Given the description of an element on the screen output the (x, y) to click on. 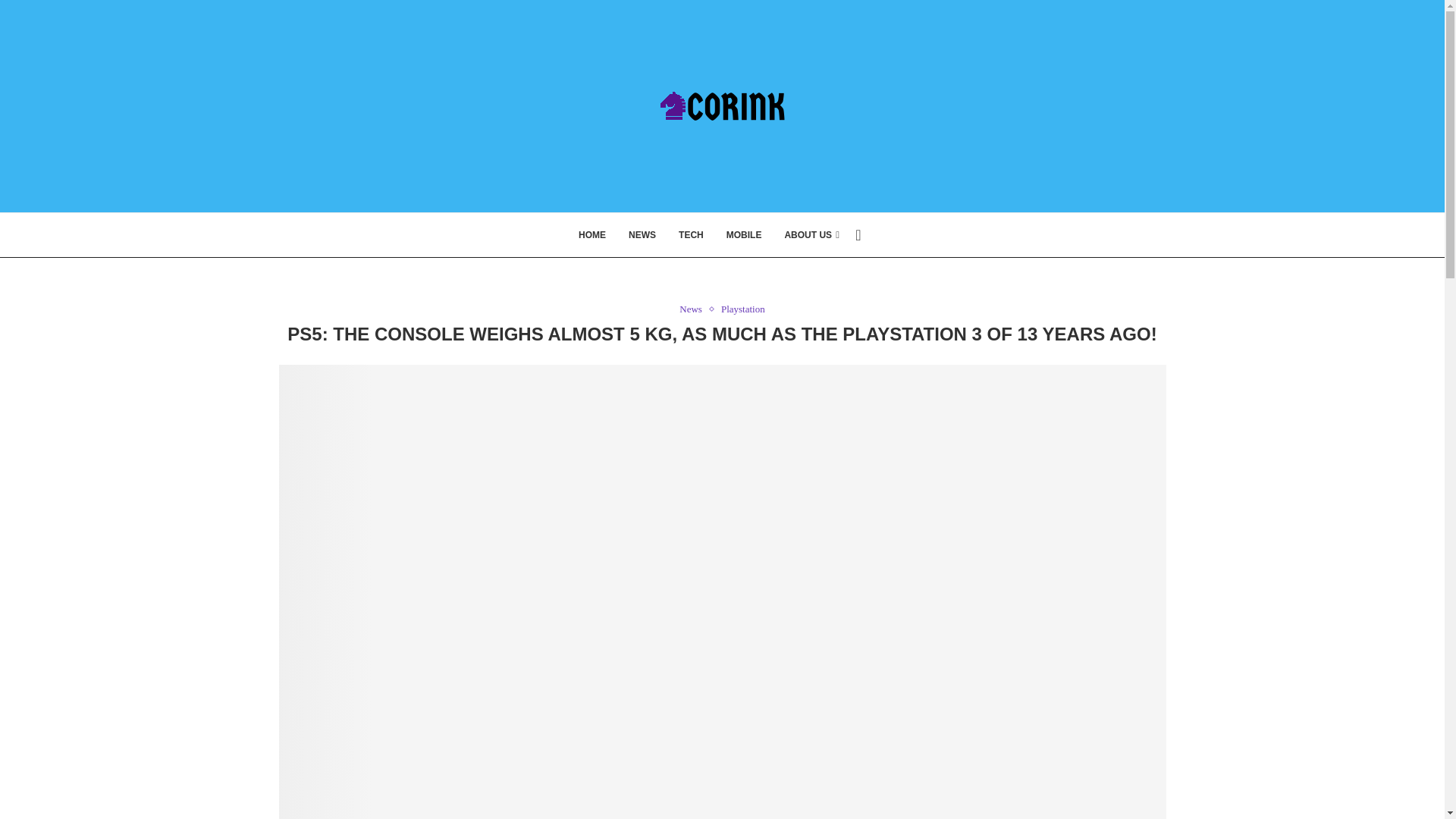
ABOUT US (811, 234)
News (694, 309)
Playstation (742, 309)
